Given the description of an element on the screen output the (x, y) to click on. 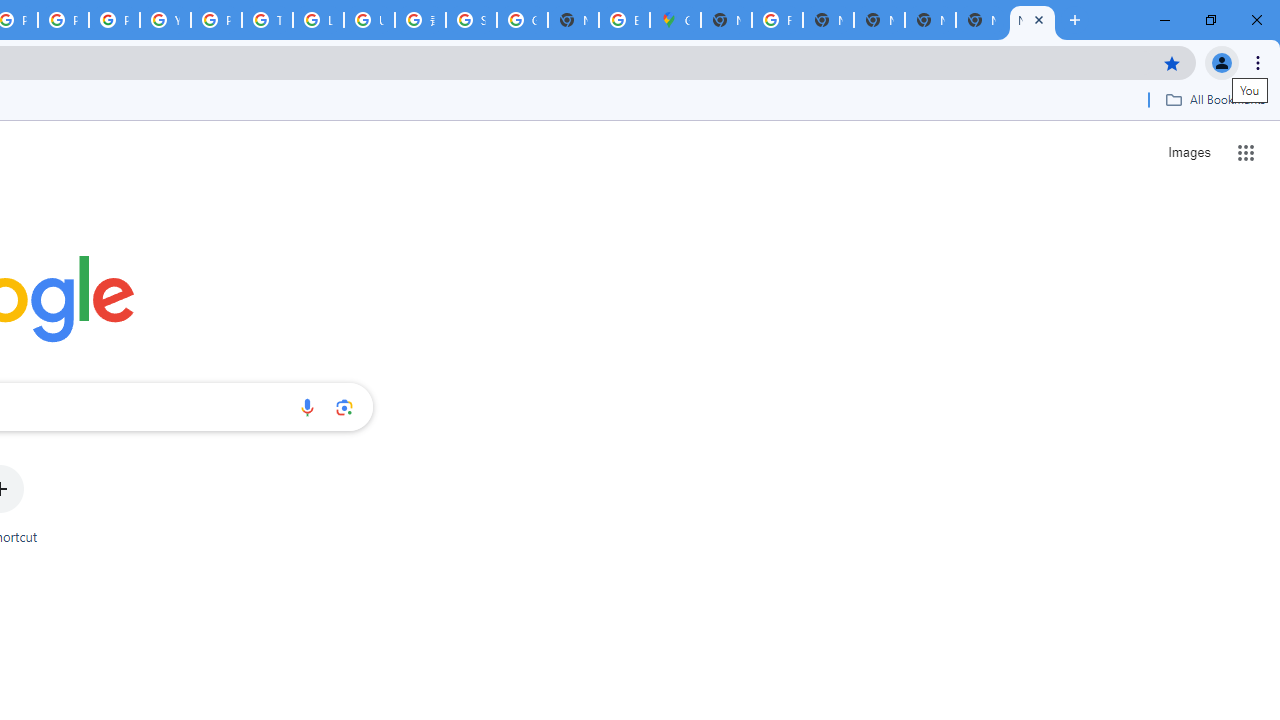
Google Maps (675, 20)
New Tab (1032, 20)
Sign in - Google Accounts (470, 20)
New Tab (726, 20)
